Given the description of an element on the screen output the (x, y) to click on. 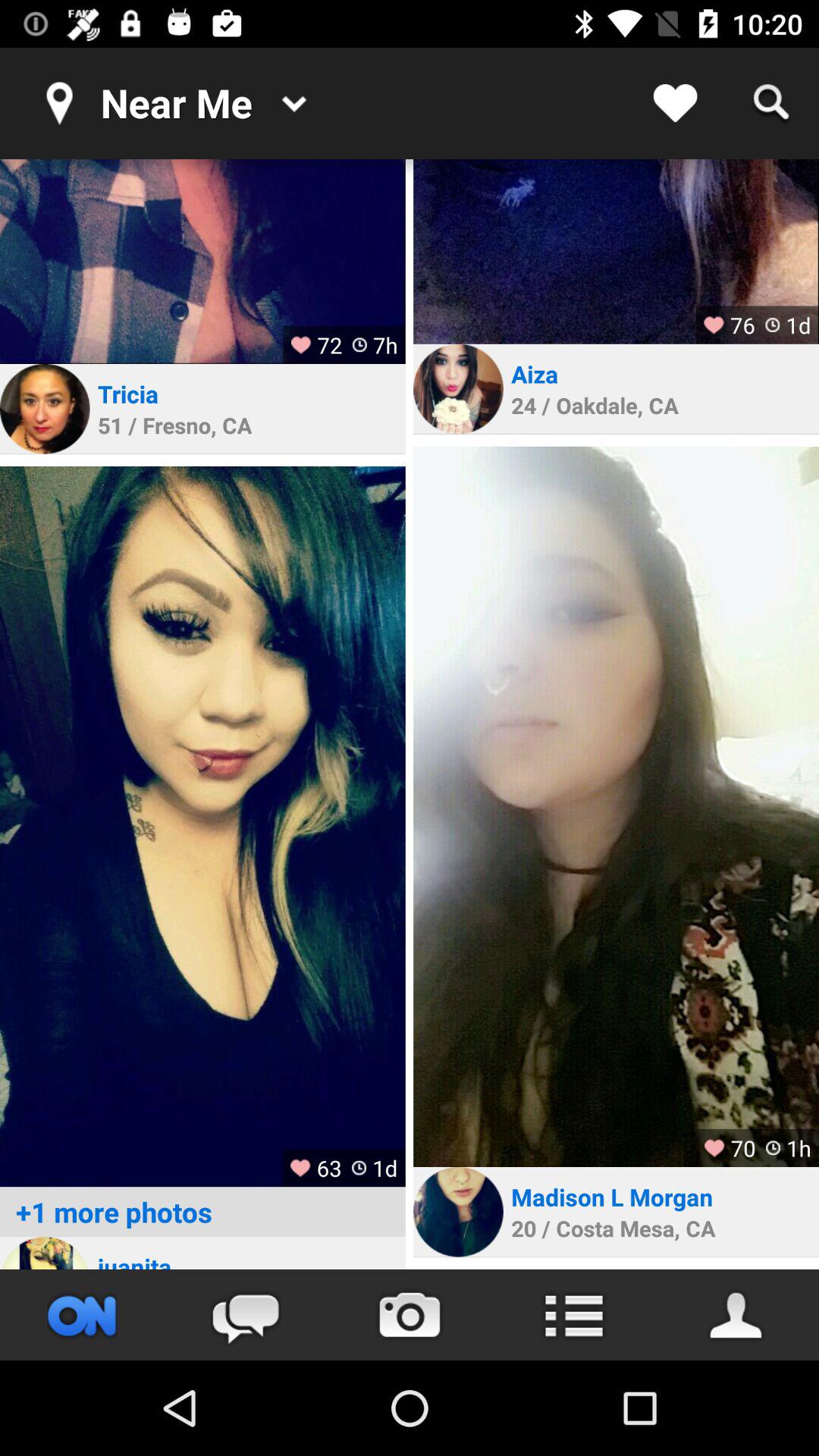
contact person image (458, 1211)
